Given the description of an element on the screen output the (x, y) to click on. 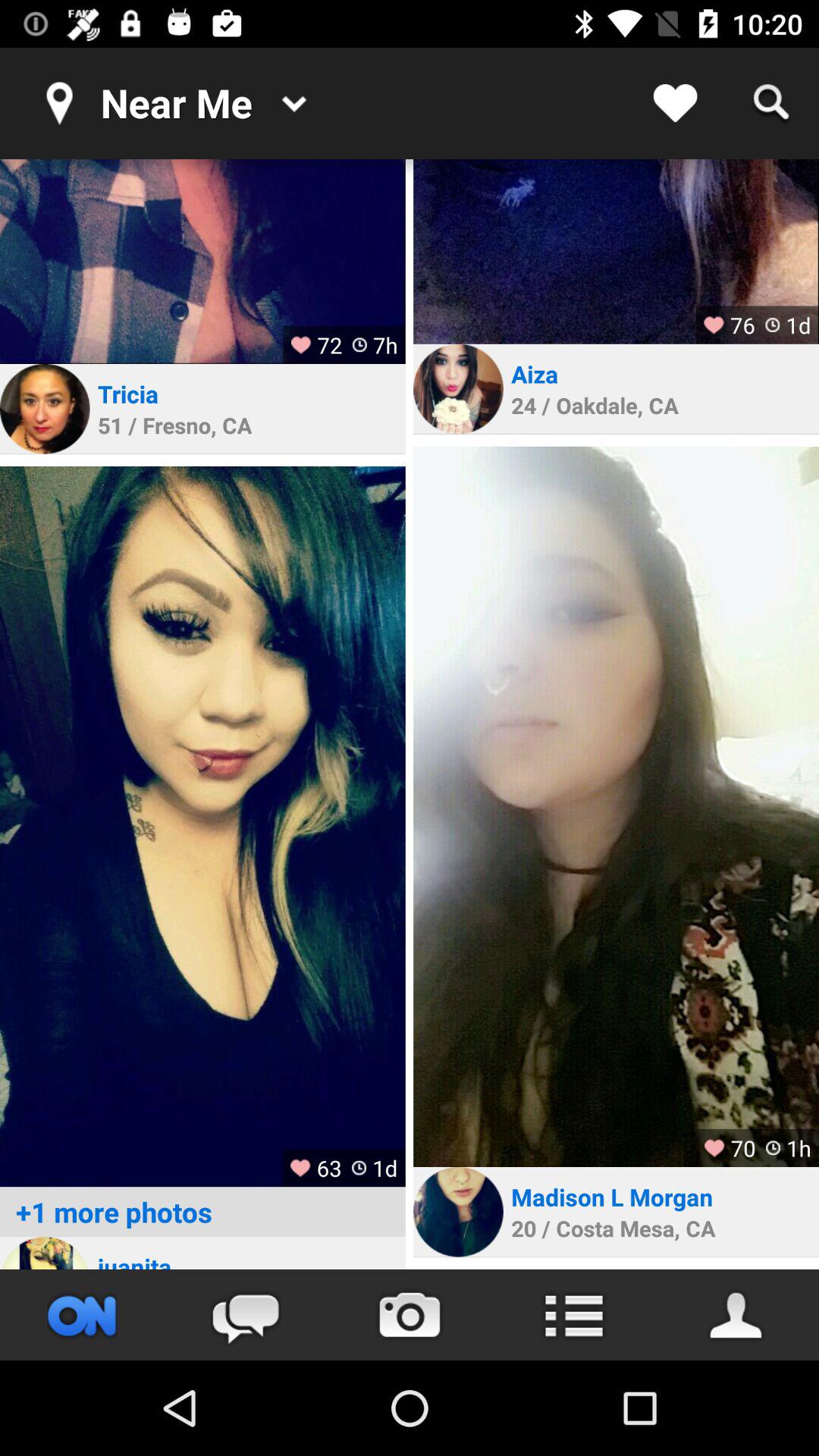
contact person image (458, 1211)
